Given the description of an element on the screen output the (x, y) to click on. 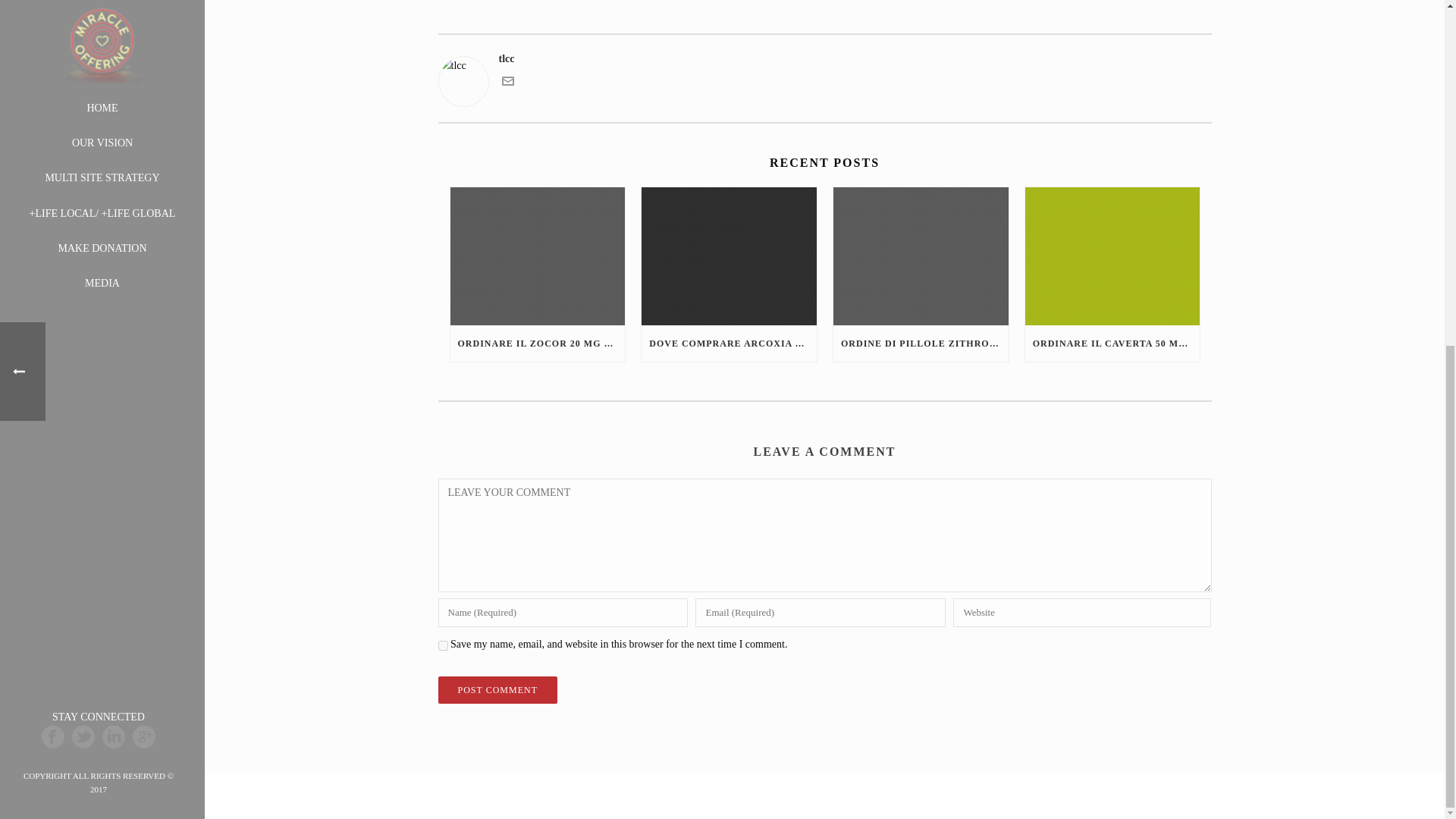
tlcc (824, 58)
yes (443, 645)
ORDINARE IL ZOCOR 20 MG ONLINE SENZA PRESCRIZIONE MEDICA (537, 343)
POST COMMENT (497, 689)
Dove Comprare Arcoxia 60 mg In Campania (729, 256)
Ordinare il Caverta 50 mg senza prescrizione (1112, 256)
DOVE COMPRARE ARCOXIA 60 MG IN CAMPANIA (729, 343)
ORDINE DI PILLOLE ZITHROMAX 500 MG (920, 343)
Ordinare il Zocor 20 mg online senza prescrizione medica (537, 256)
Get in touch with me via email (507, 83)
Ordine di pillole Zithromax 500 mg (920, 256)
